Given the description of an element on the screen output the (x, y) to click on. 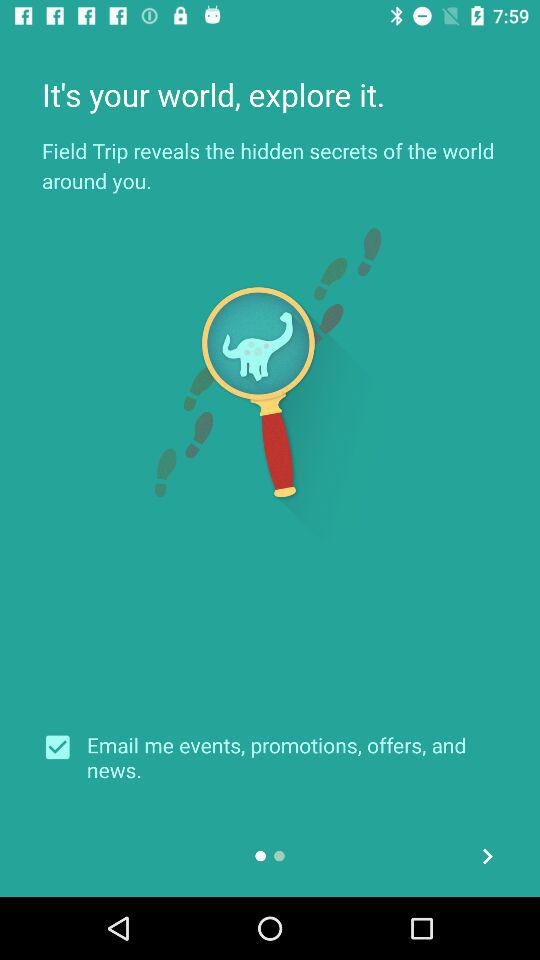
launch the icon next to the email me events (64, 747)
